Given the description of an element on the screen output the (x, y) to click on. 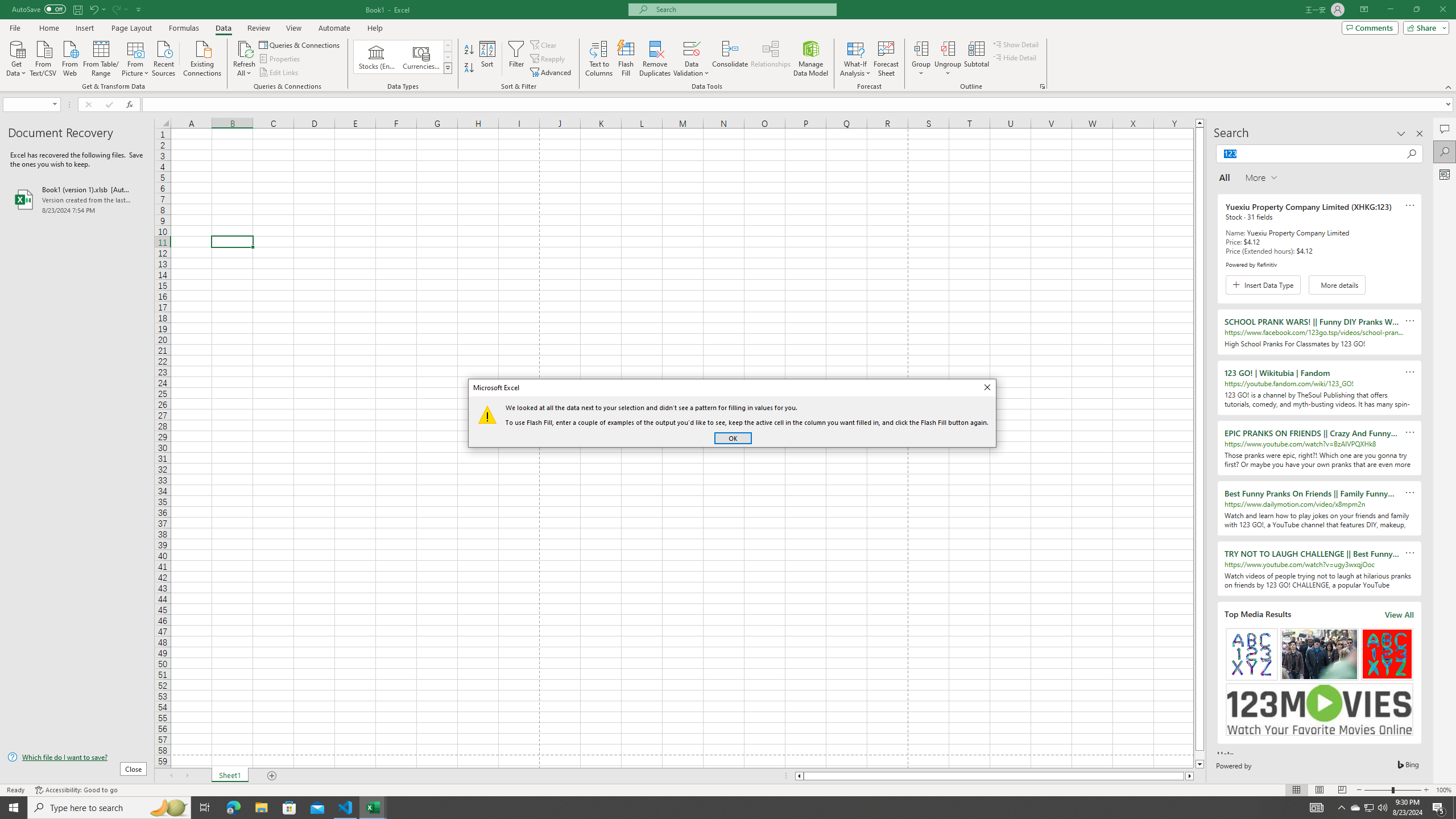
Notification Chevron (1341, 807)
Recent Sources (163, 57)
OK (732, 437)
Currencies (English) (420, 56)
Data Types (448, 67)
Text to Columns... (598, 58)
